Given the description of an element on the screen output the (x, y) to click on. 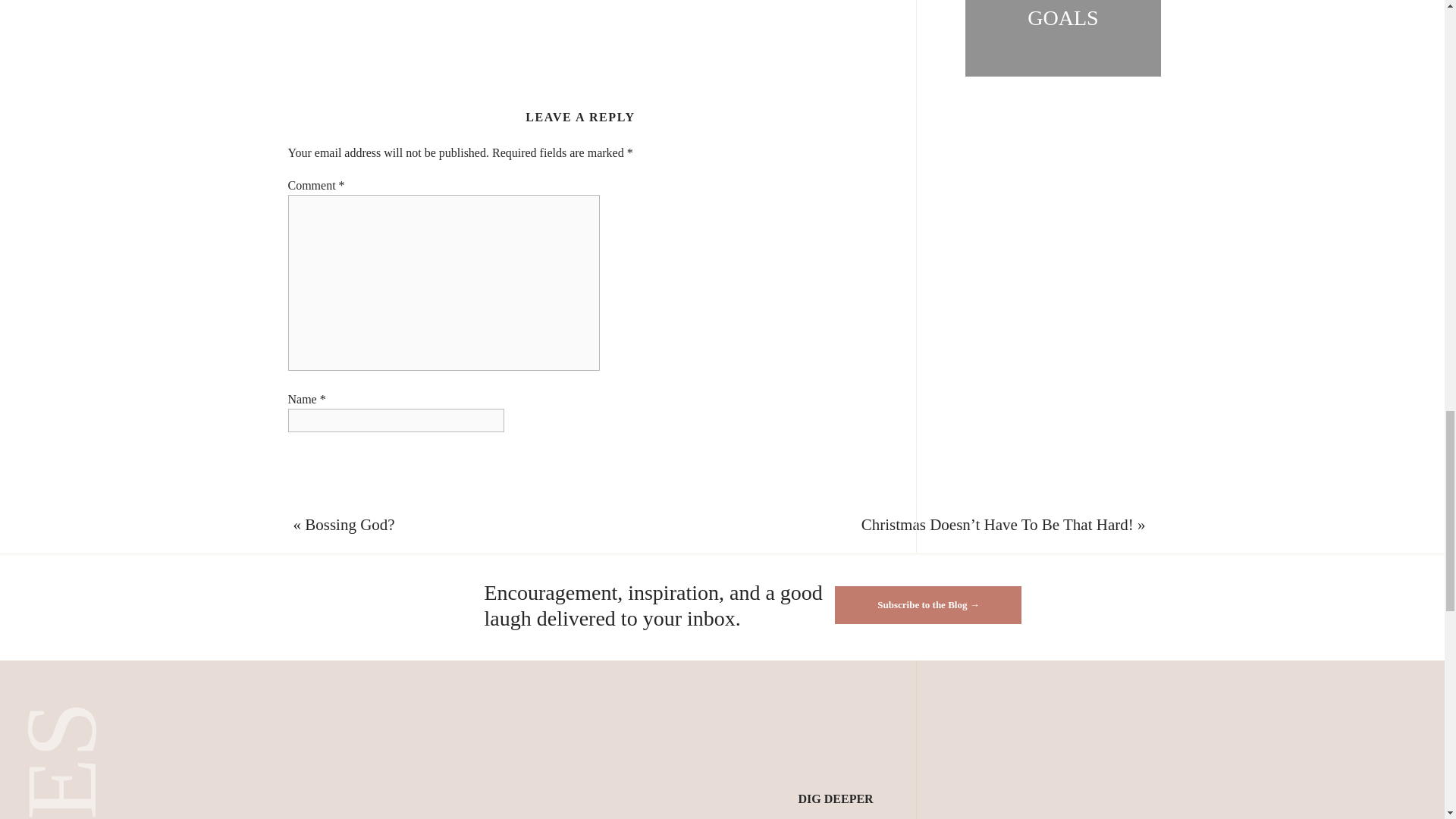
GOALS (1062, 17)
Post Comment (332, 630)
Bossing God? (349, 524)
Post Comment (332, 630)
yes (296, 560)
